Given the description of an element on the screen output the (x, y) to click on. 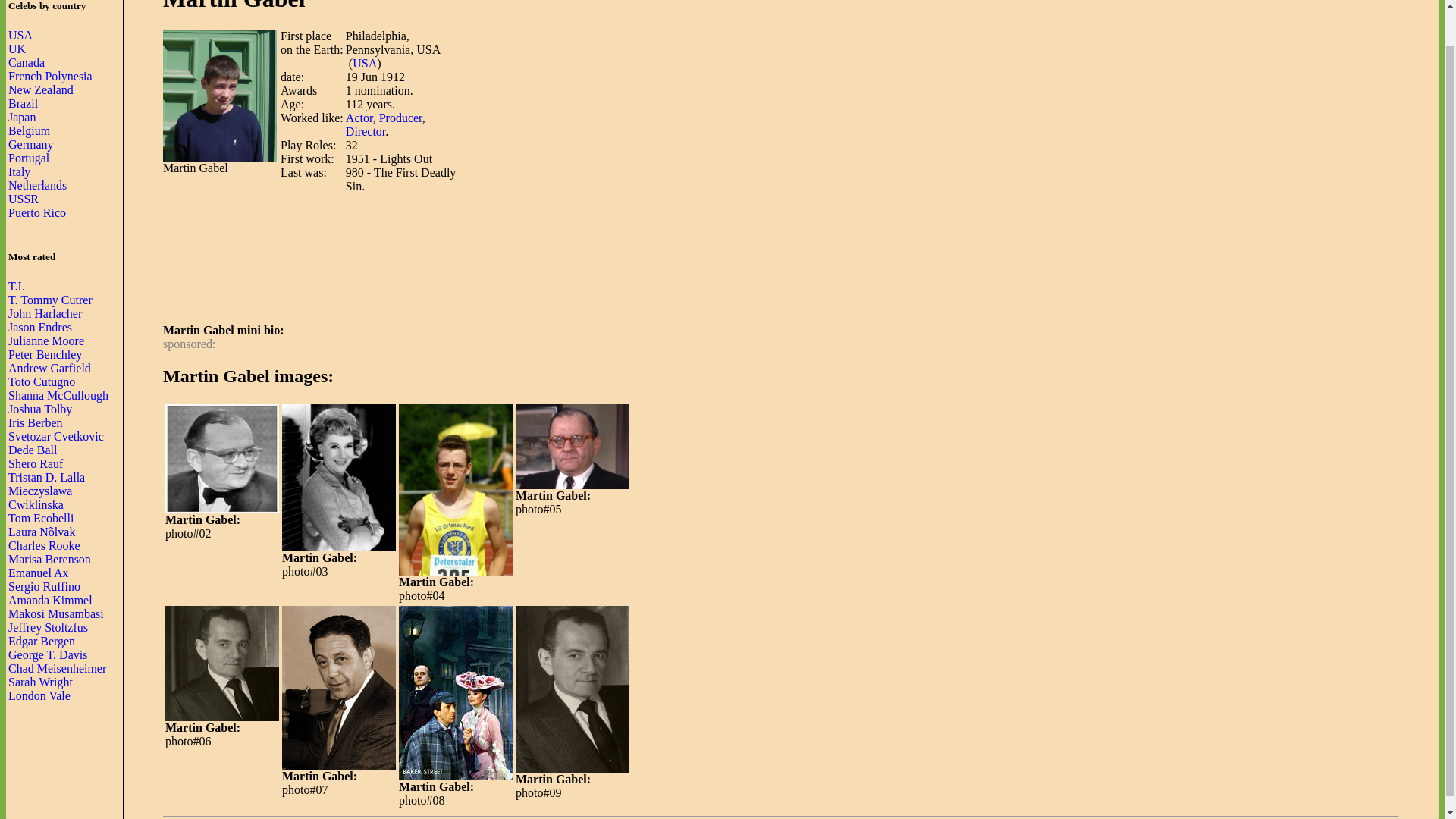
Belgium (28, 130)
Netherlands (37, 185)
Canada (26, 62)
UK (17, 48)
Brazil (22, 103)
Tristan D. Lalla (46, 477)
Joshua Tolby (39, 408)
Julianne Moore (46, 340)
Dede Ball (32, 449)
French Polynesia (50, 75)
USSR  (23, 198)
Peter Benchley (44, 354)
Canada (26, 62)
New Zealand (41, 89)
Puerto Rico (36, 212)
